Given the description of an element on the screen output the (x, y) to click on. 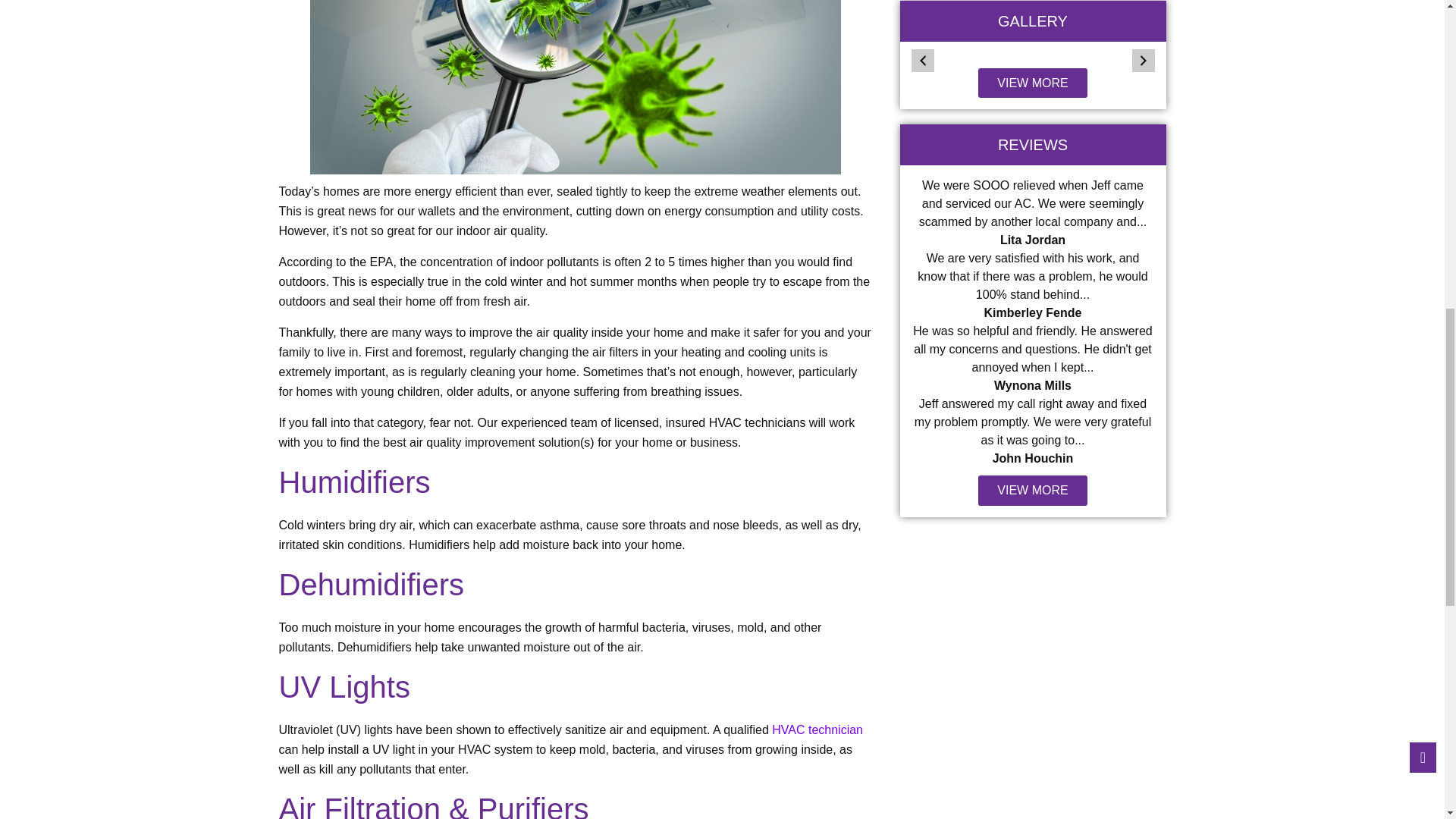
Home Air Quality (575, 87)
